Given the description of an element on the screen output the (x, y) to click on. 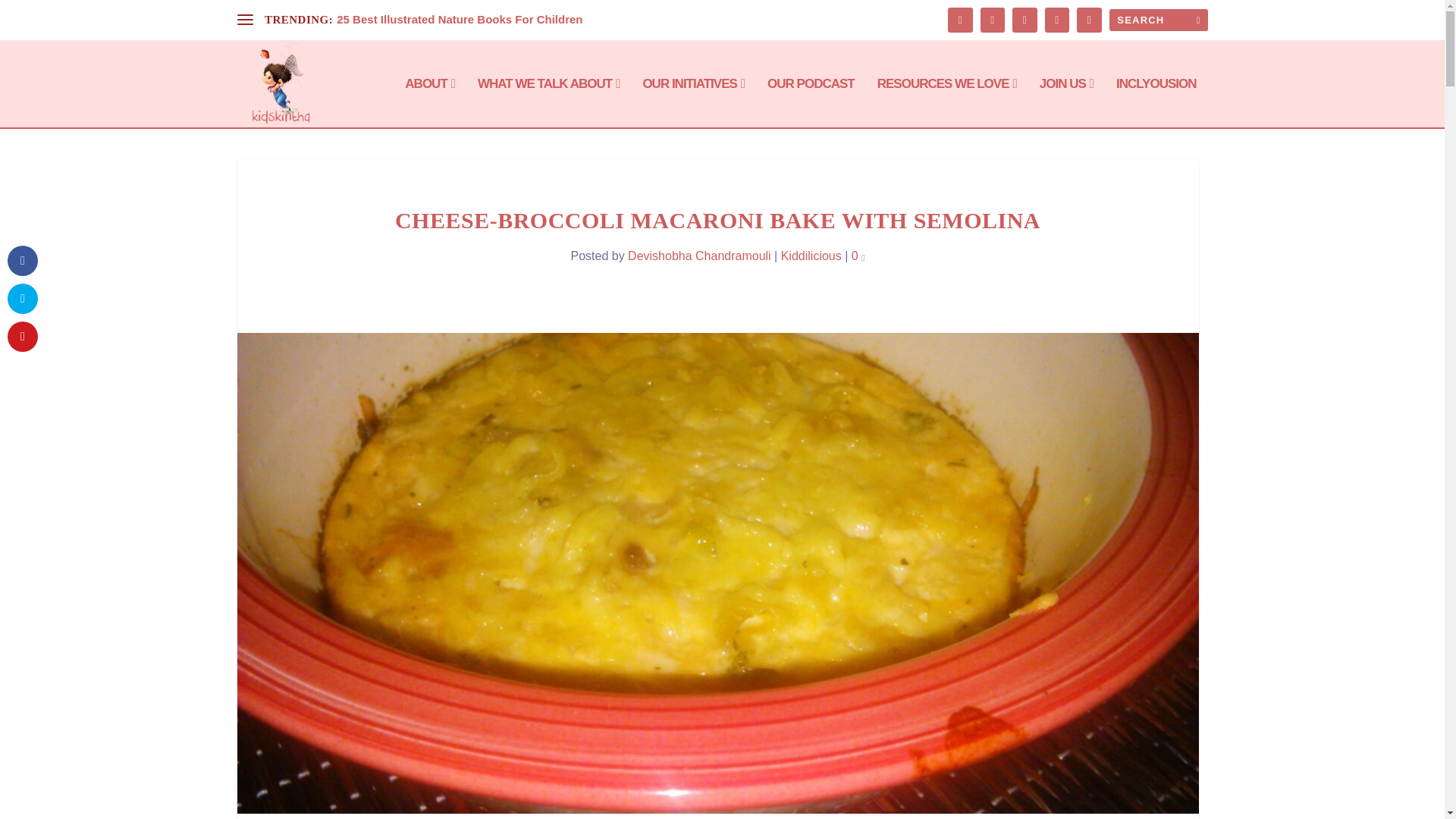
WHAT WE TALK ABOUT (548, 101)
Search for: (1157, 20)
Posts by Devishobha Chandramouli (699, 254)
25 Best Illustrated Nature Books For Children (459, 19)
ABOUT (429, 101)
